Given the description of an element on the screen output the (x, y) to click on. 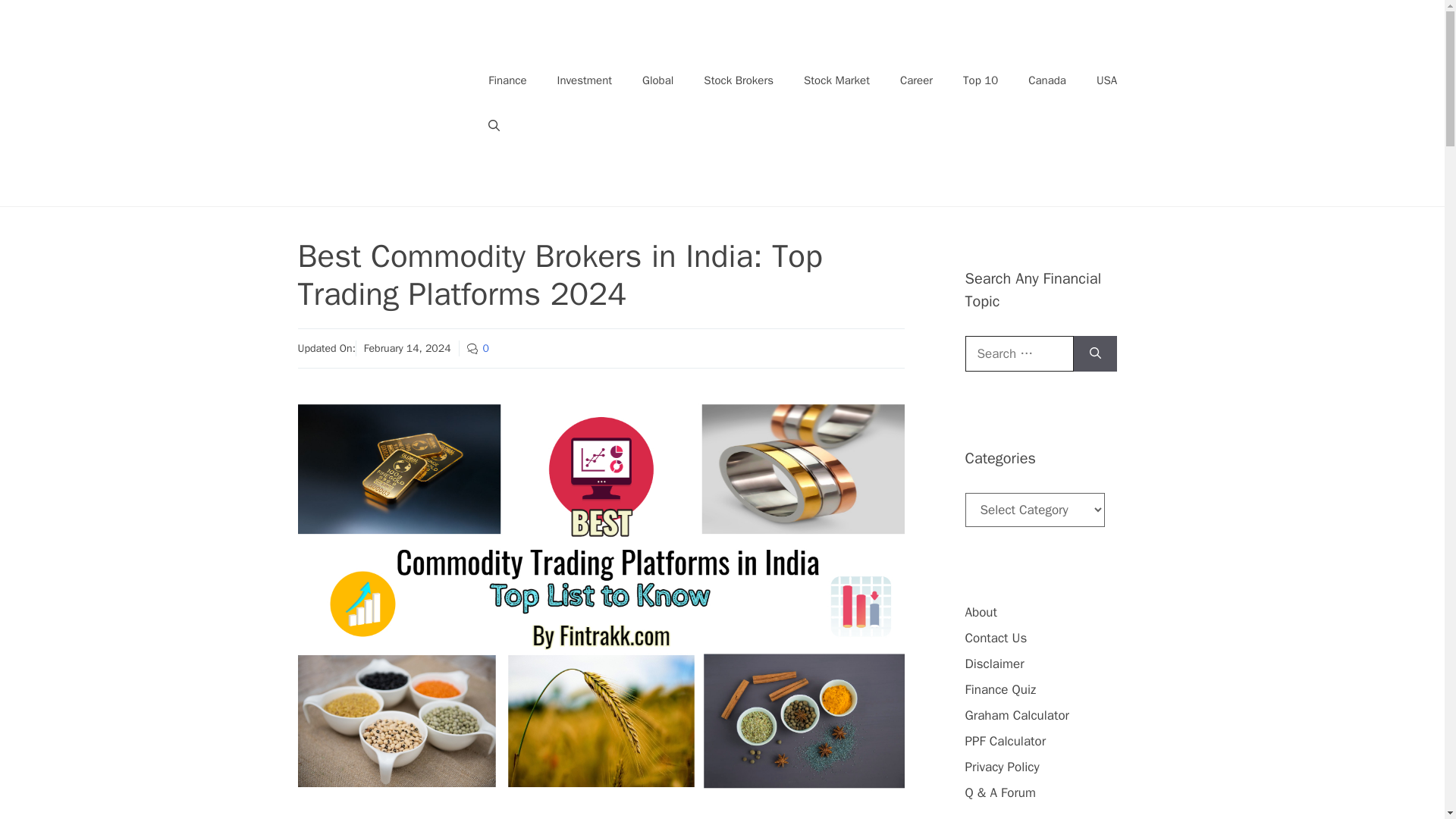
Finance (507, 80)
Investment (584, 80)
Canada (1047, 80)
Top 10 (980, 80)
USA (1106, 80)
Stock Market (837, 80)
Fintrakk (385, 101)
Search for: (1018, 353)
Stock Brokers (738, 80)
Global (657, 80)
